Given the description of an element on the screen output the (x, y) to click on. 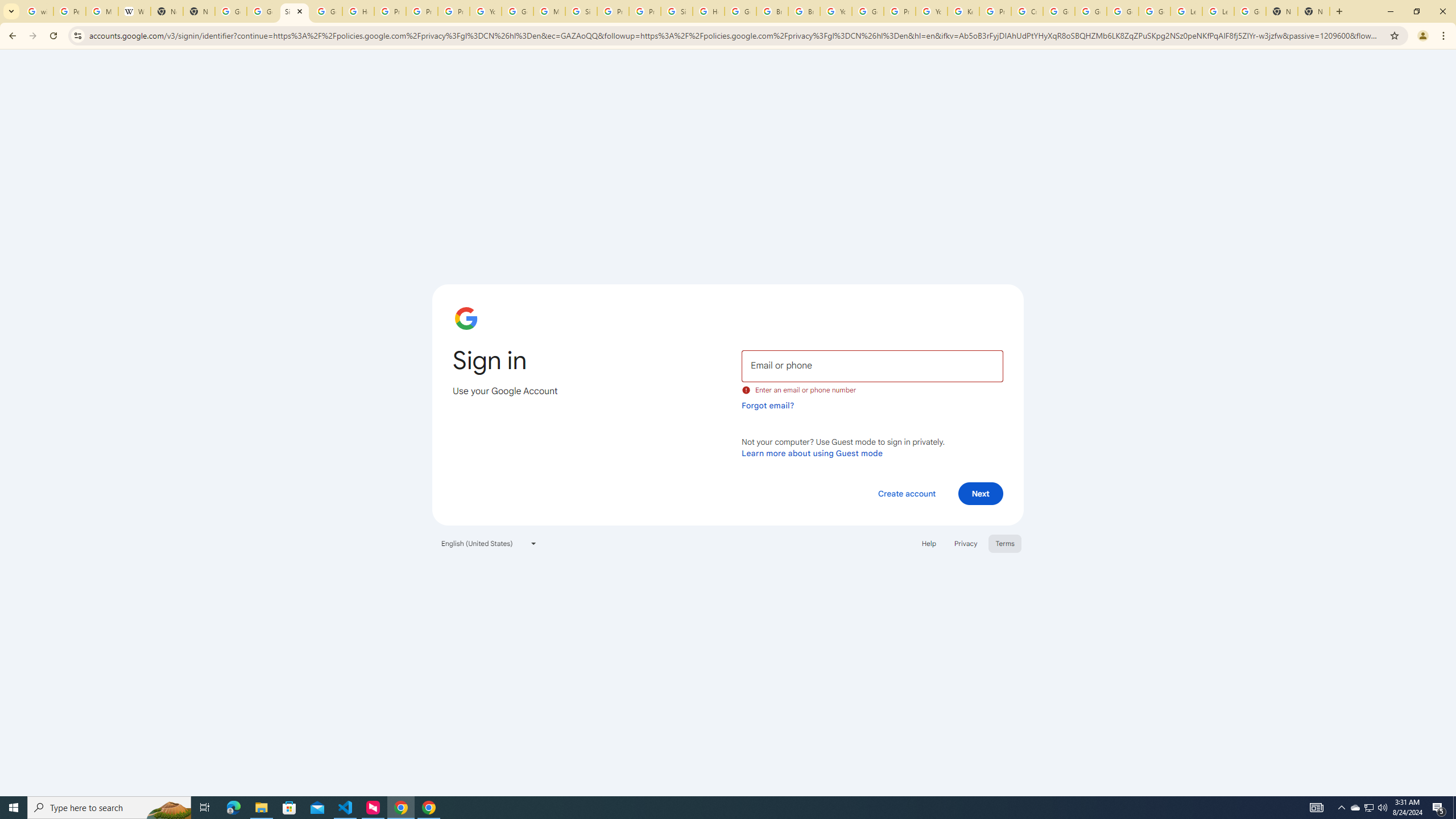
Google Account Help (1154, 11)
YouTube (485, 11)
New Tab (1313, 11)
